Given the description of an element on the screen output the (x, y) to click on. 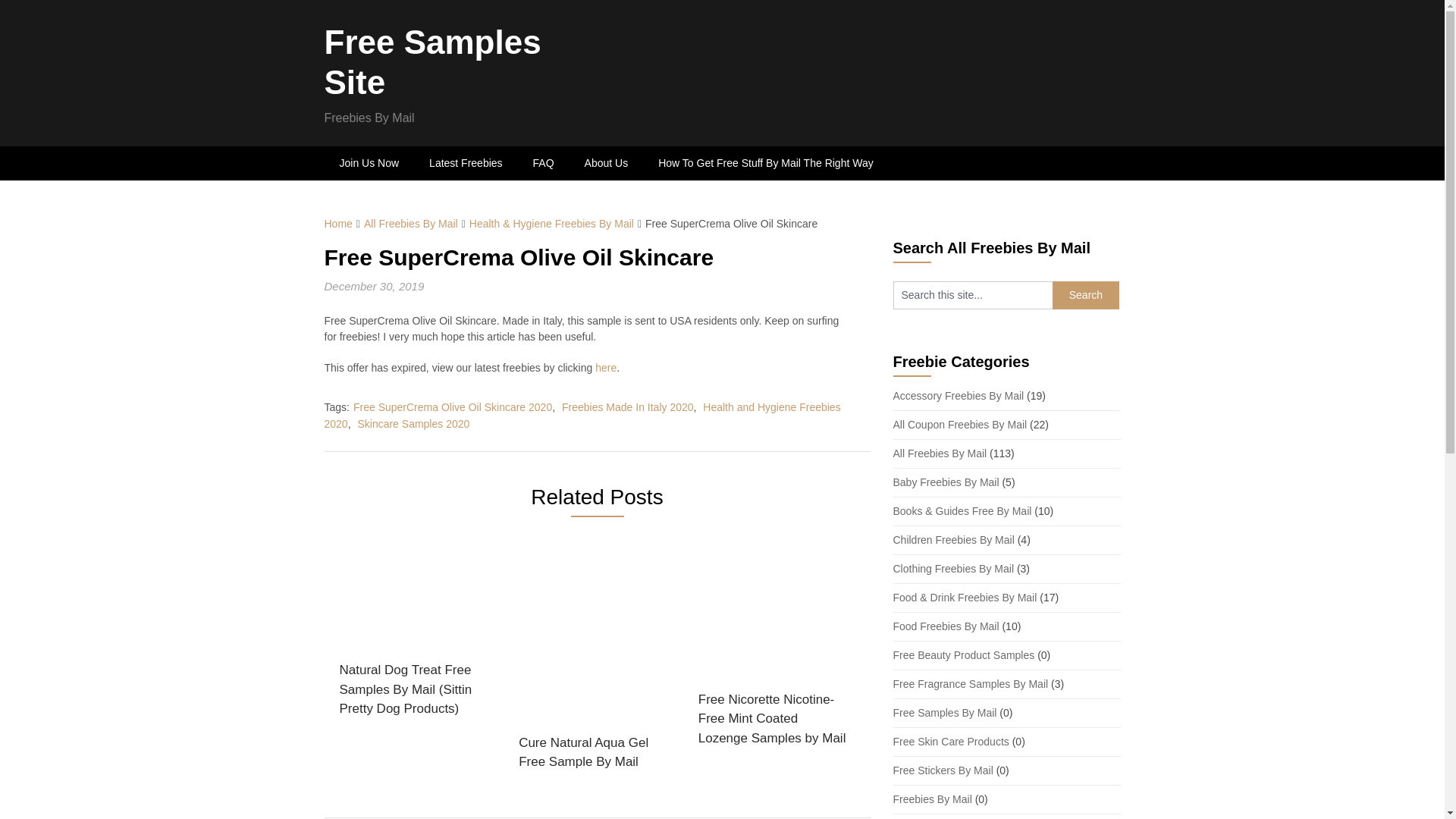
FAQ (543, 163)
Clothing Freebies By Mail (953, 568)
Search this site... (972, 295)
Food Freebies By Mail (945, 625)
All Freebies By Mail (411, 223)
All Freebies By Mail (940, 453)
Free Samples Site (432, 61)
Latest Freebies (465, 163)
Baby Freebies By Mail (945, 481)
Health and Hygiene Freebies 2020 (582, 415)
